Given the description of an element on the screen output the (x, y) to click on. 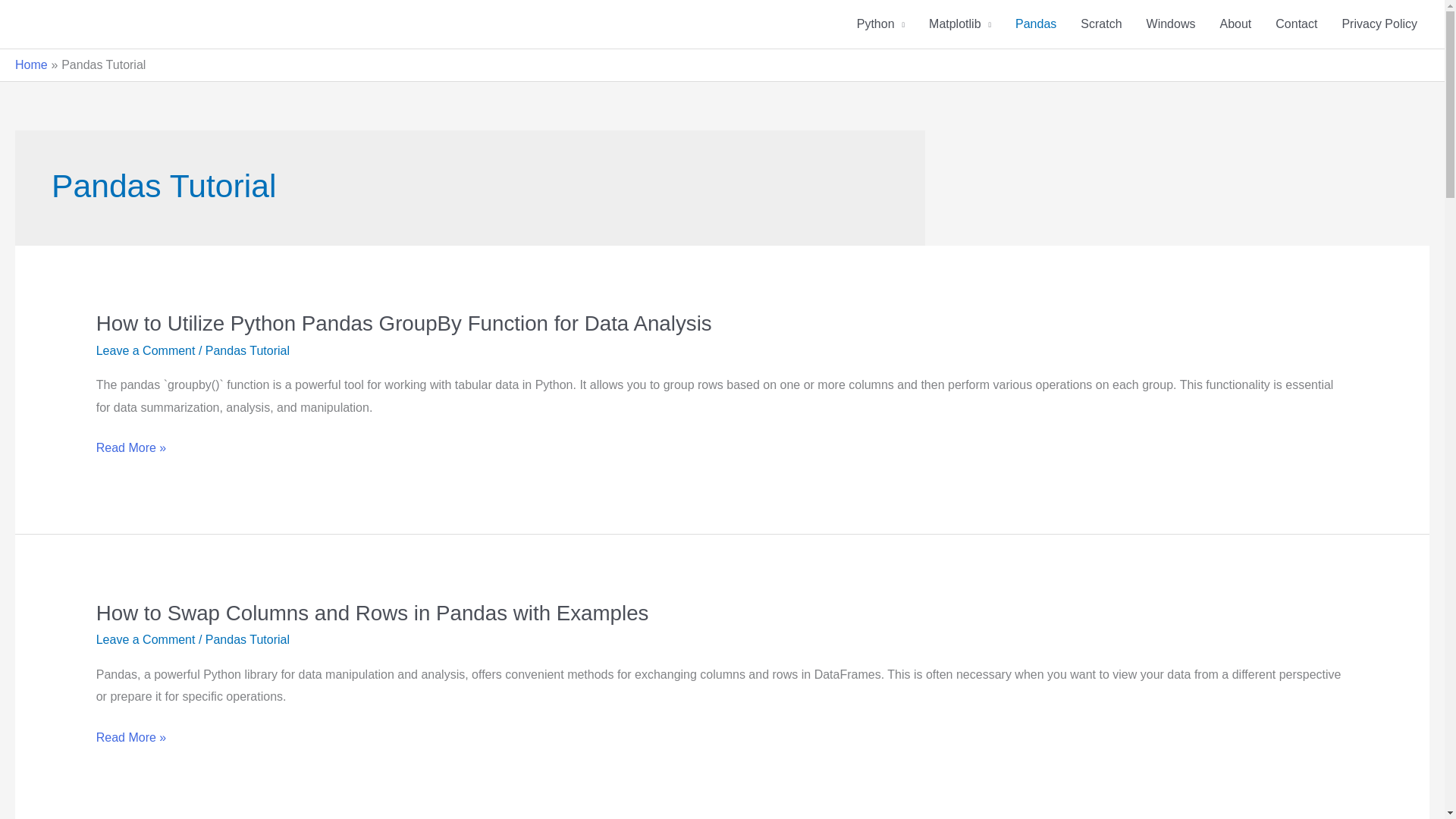
Privacy Policy (1379, 24)
Scratch (1101, 24)
Matplotlib (960, 24)
Leave a Comment (145, 639)
Leave a Comment (145, 350)
Home (31, 64)
Pandas Tutorial (247, 639)
Pandas Tutorial (247, 350)
About (1235, 24)
Contact (1296, 24)
Python (880, 24)
Pandas (1035, 24)
How to Swap Columns and Rows in Pandas with Examples (372, 612)
Windows (1171, 24)
